Given the description of an element on the screen output the (x, y) to click on. 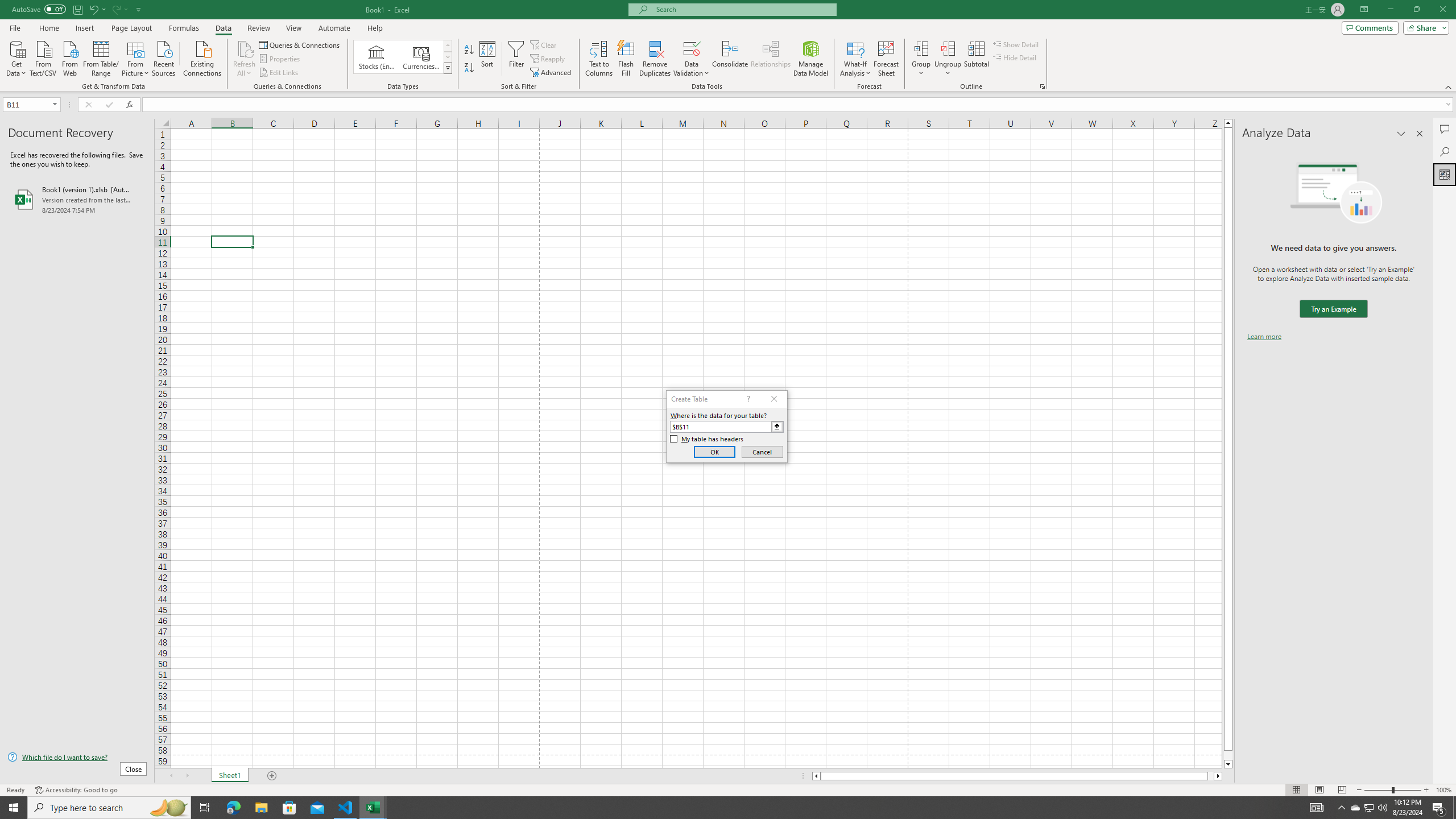
Sort A to Z (469, 49)
Row up (448, 45)
Data Types (448, 67)
Reapply (548, 58)
Forecast Sheet (885, 58)
